Given the description of an element on the screen output the (x, y) to click on. 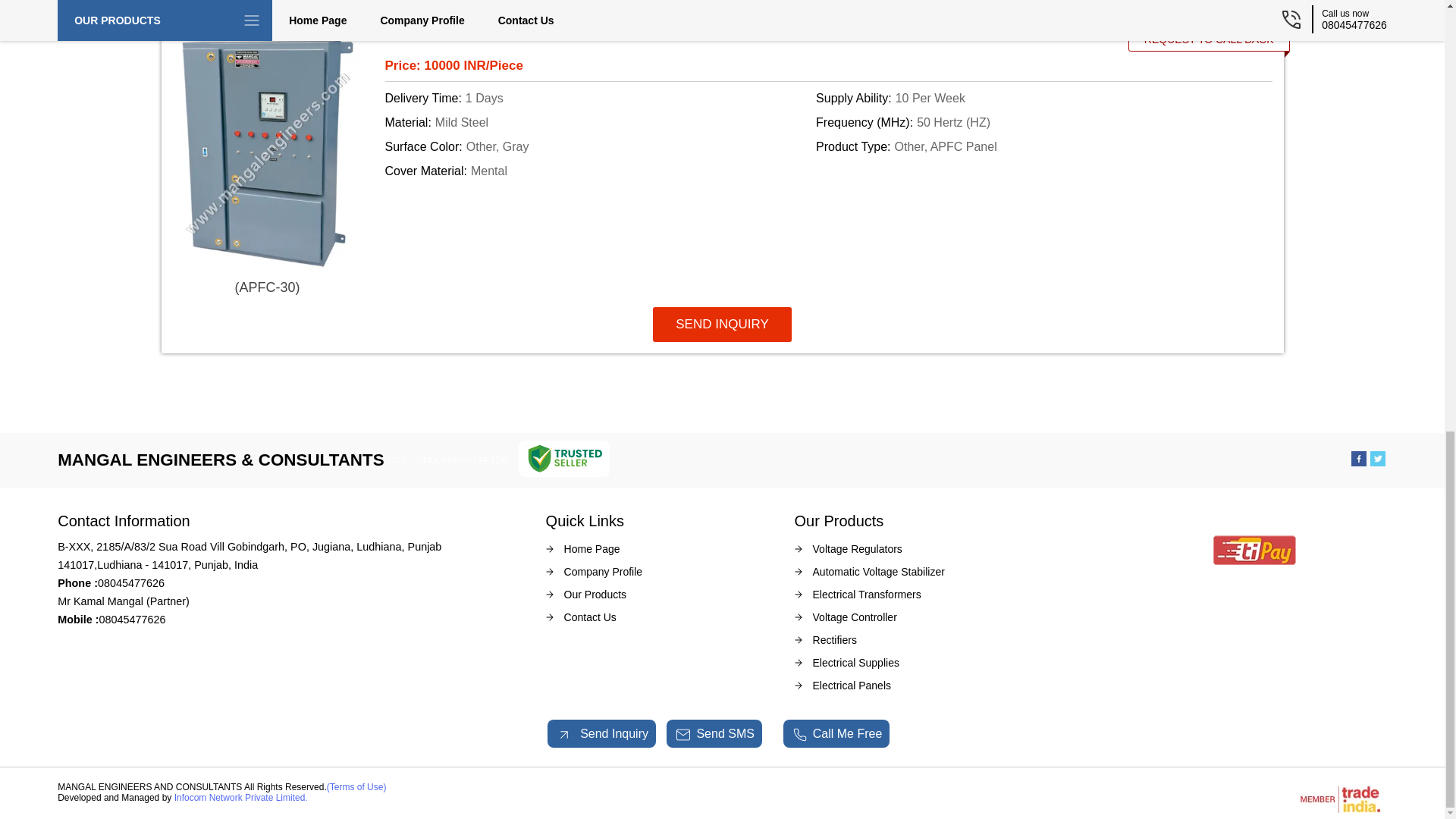
Material: Mild Steel (597, 122)
Delivery Time: 1 Days (597, 98)
Supply Ability: 10 Per Week (1028, 98)
Cover Material: Mental (597, 171)
Product Type: Other, APFC Panel (1028, 147)
Facebook (1359, 461)
APFC Panel (739, 36)
Surface Color: Other, Gray (597, 147)
